Given the description of an element on the screen output the (x, y) to click on. 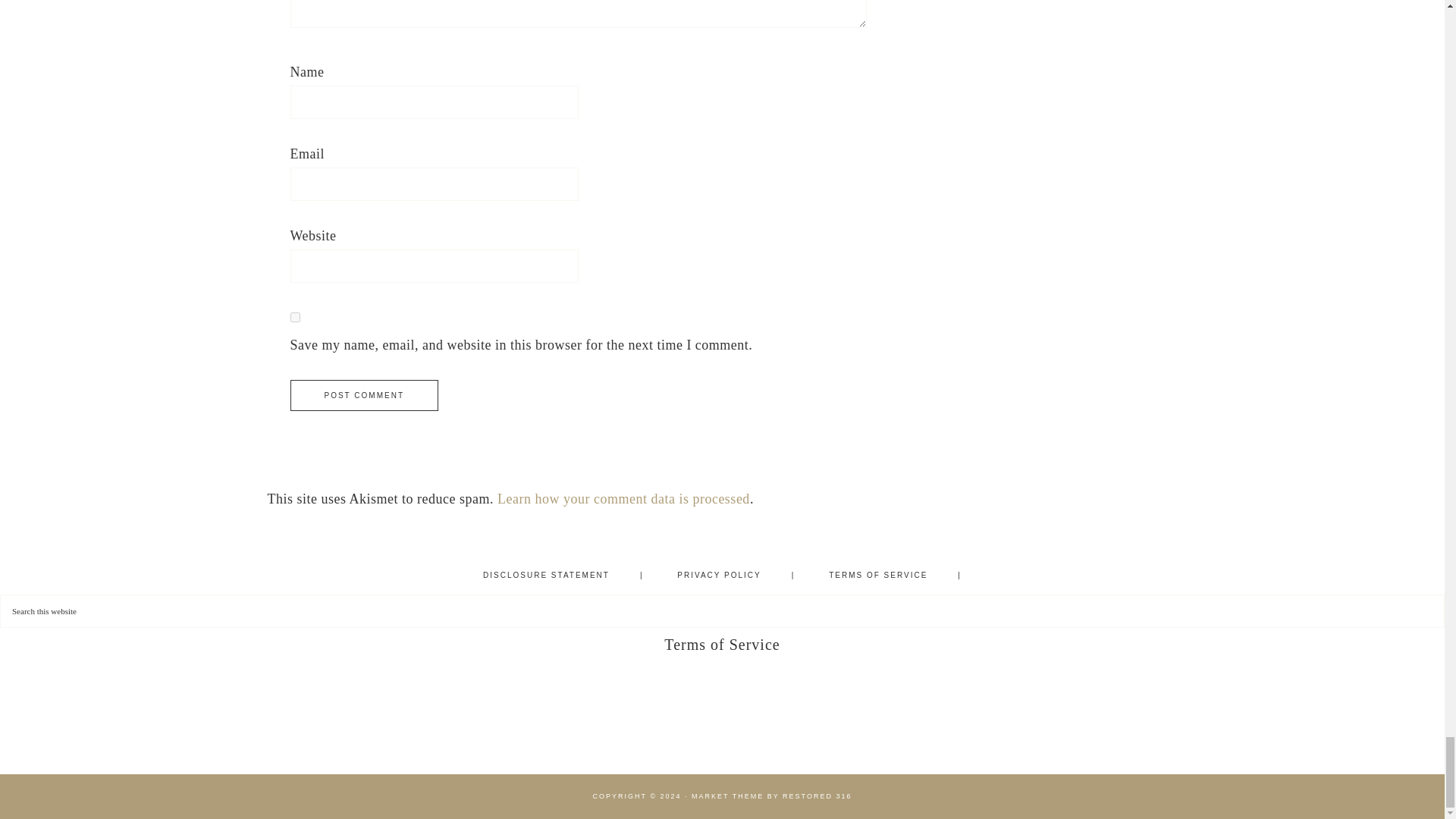
yes (294, 317)
Post Comment (363, 395)
